Given the description of an element on the screen output the (x, y) to click on. 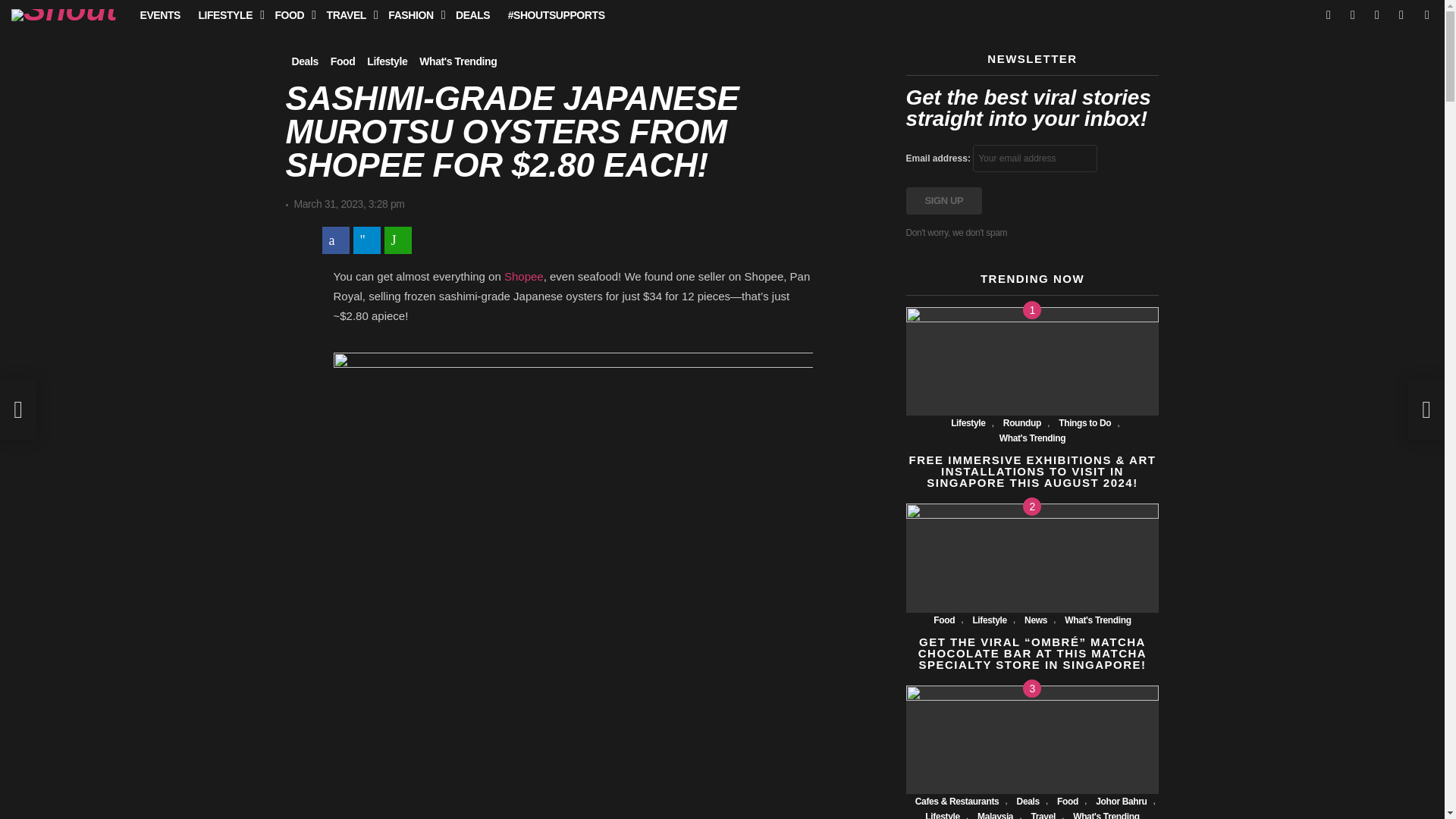
Deals (304, 61)
LIFESTYLE (227, 15)
DEALS (472, 15)
Lifestyle (387, 61)
What's Trending (457, 61)
Share on Facebook (335, 239)
FASHION (412, 15)
FOOD (290, 15)
twitter (1352, 15)
TRAVEL (347, 15)
Share on Telegram (366, 239)
youtube (1401, 15)
Share on WhatsApp (397, 239)
instagram (1377, 15)
Food (342, 61)
